Given the description of an element on the screen output the (x, y) to click on. 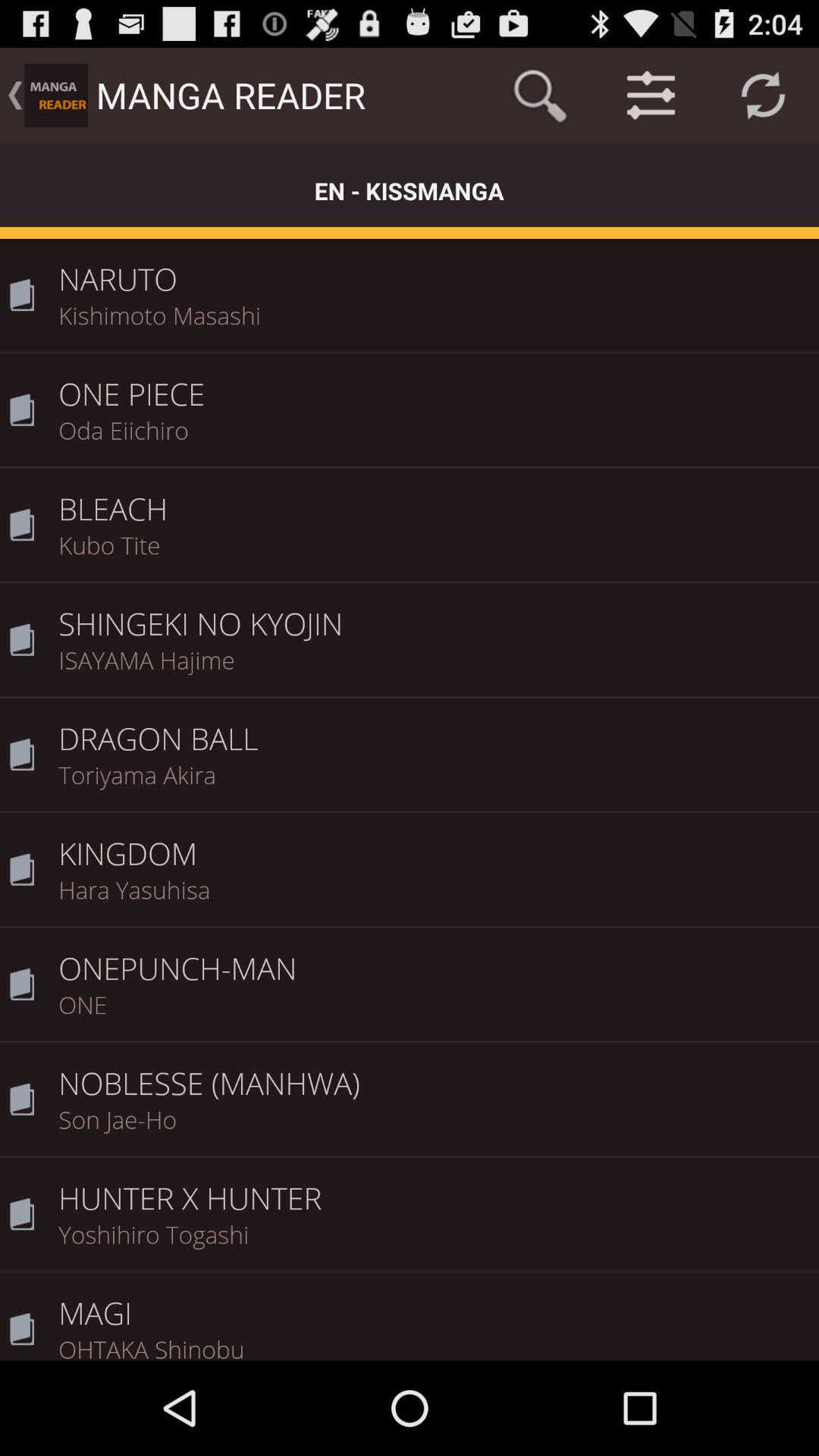
swipe until the naruto icon (433, 268)
